Given the description of an element on the screen output the (x, y) to click on. 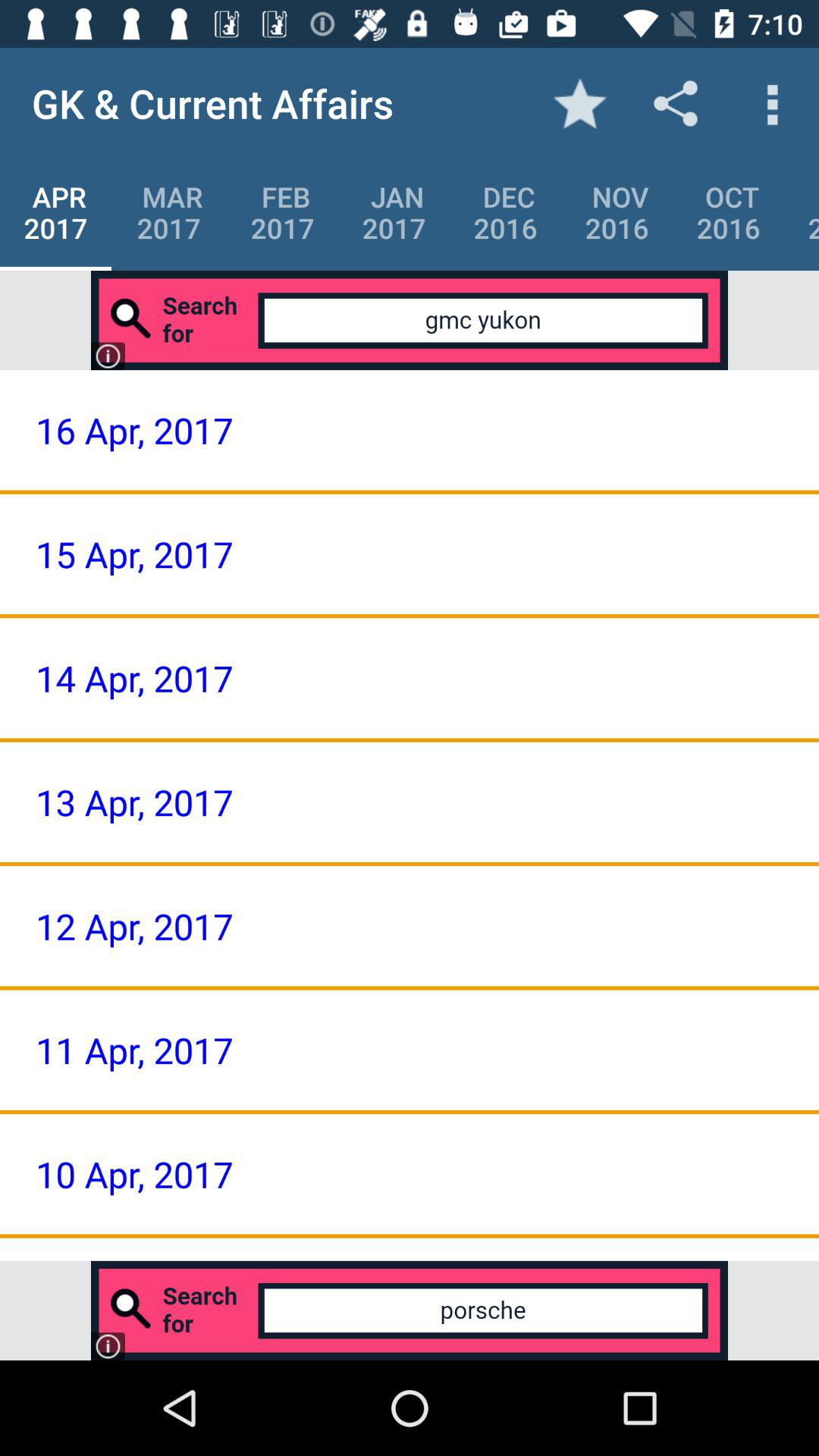
jump to the  feb
2017 item (282, 212)
